Given the description of an element on the screen output the (x, y) to click on. 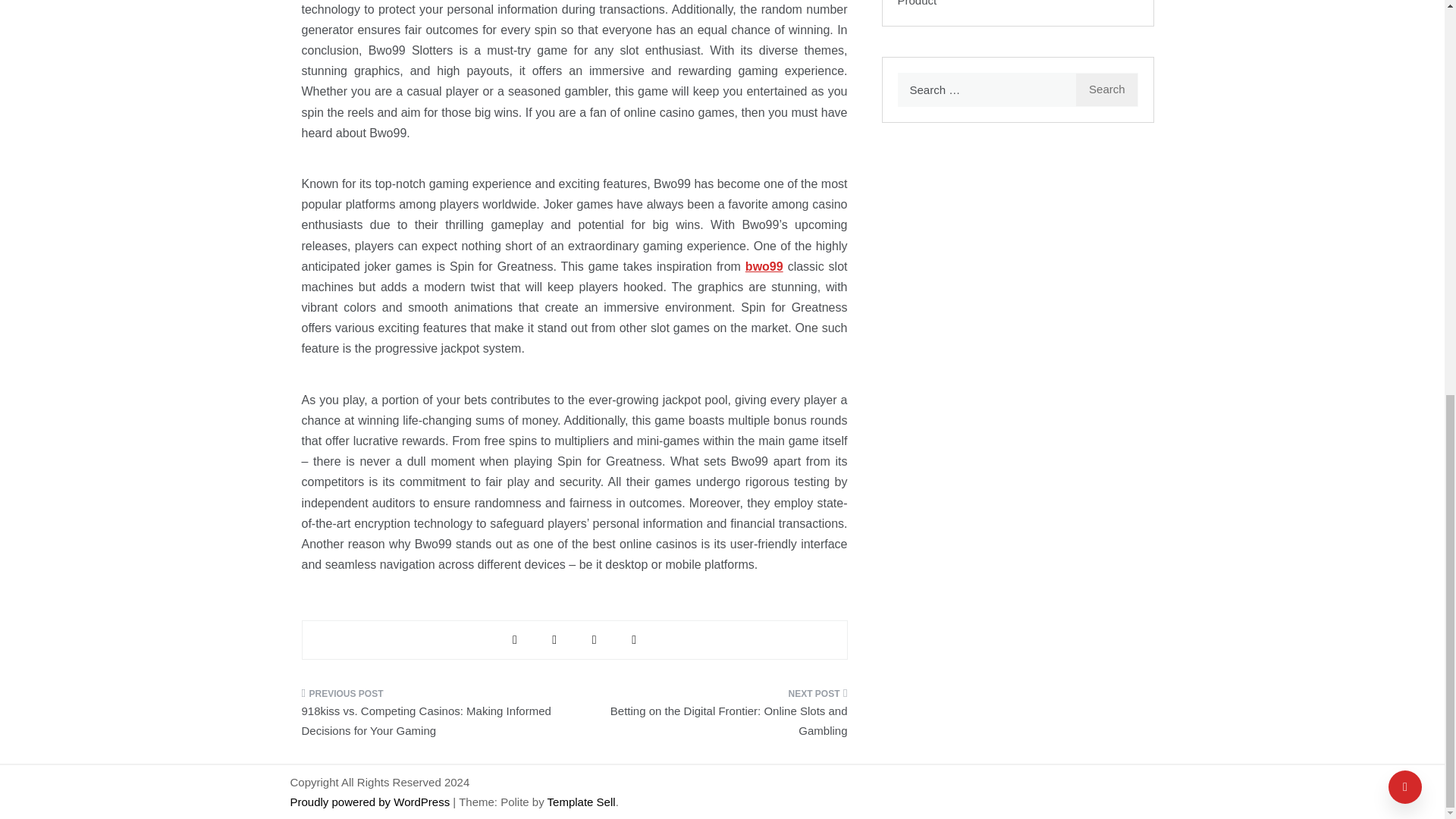
Search (1106, 89)
Betting on the Digital Frontier: Online Slots and Gambling (716, 716)
Template Sell (581, 801)
Search (1106, 89)
Proudly powered by WordPress (370, 801)
Go to Top (1405, 26)
Search (1106, 89)
Product (917, 3)
bwo99 (764, 266)
